Given the description of an element on the screen output the (x, y) to click on. 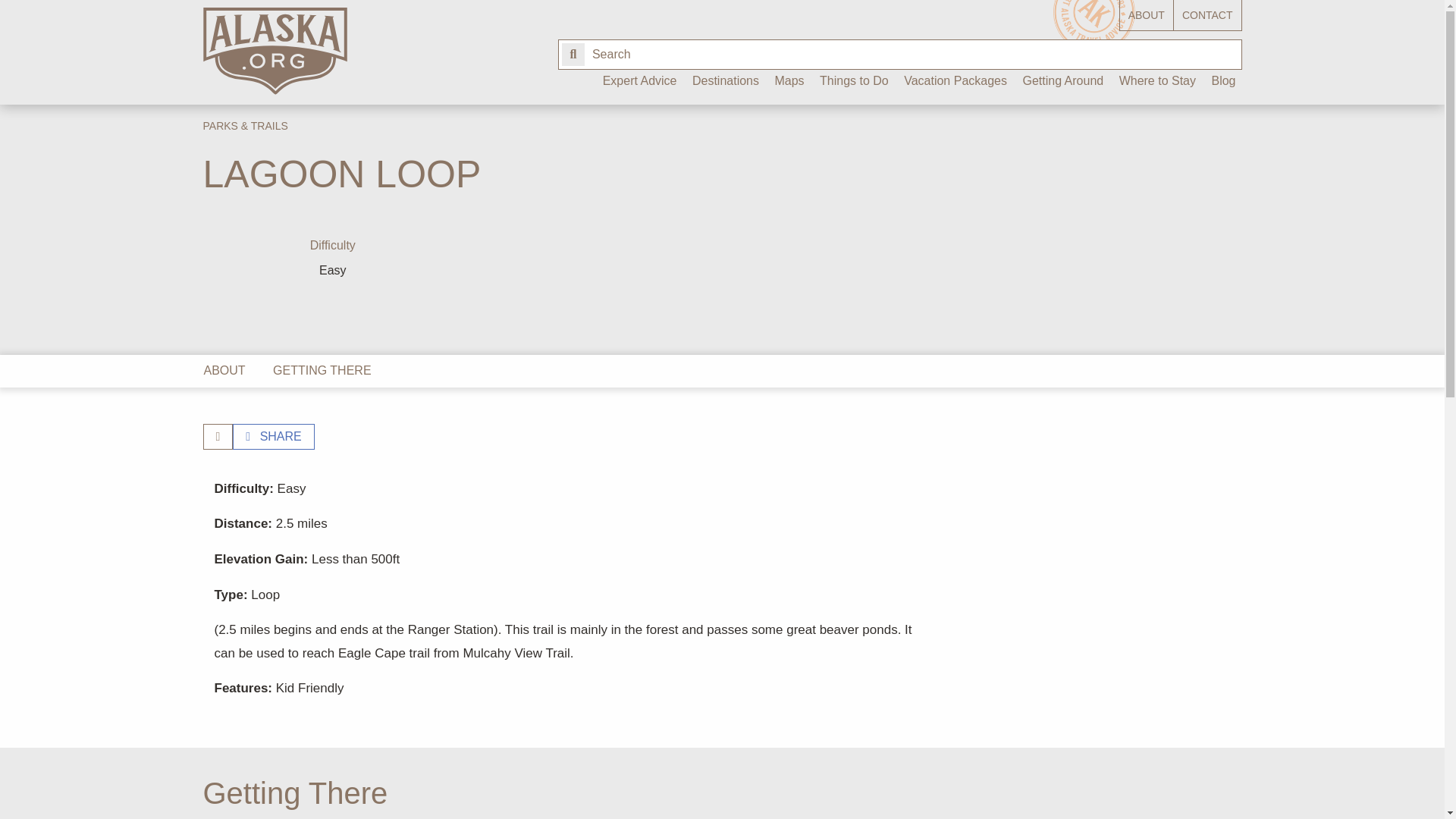
CONTACT (1207, 15)
Destinations (725, 87)
Expert Advice (639, 87)
ABOUT (1146, 15)
